Given the description of an element on the screen output the (x, y) to click on. 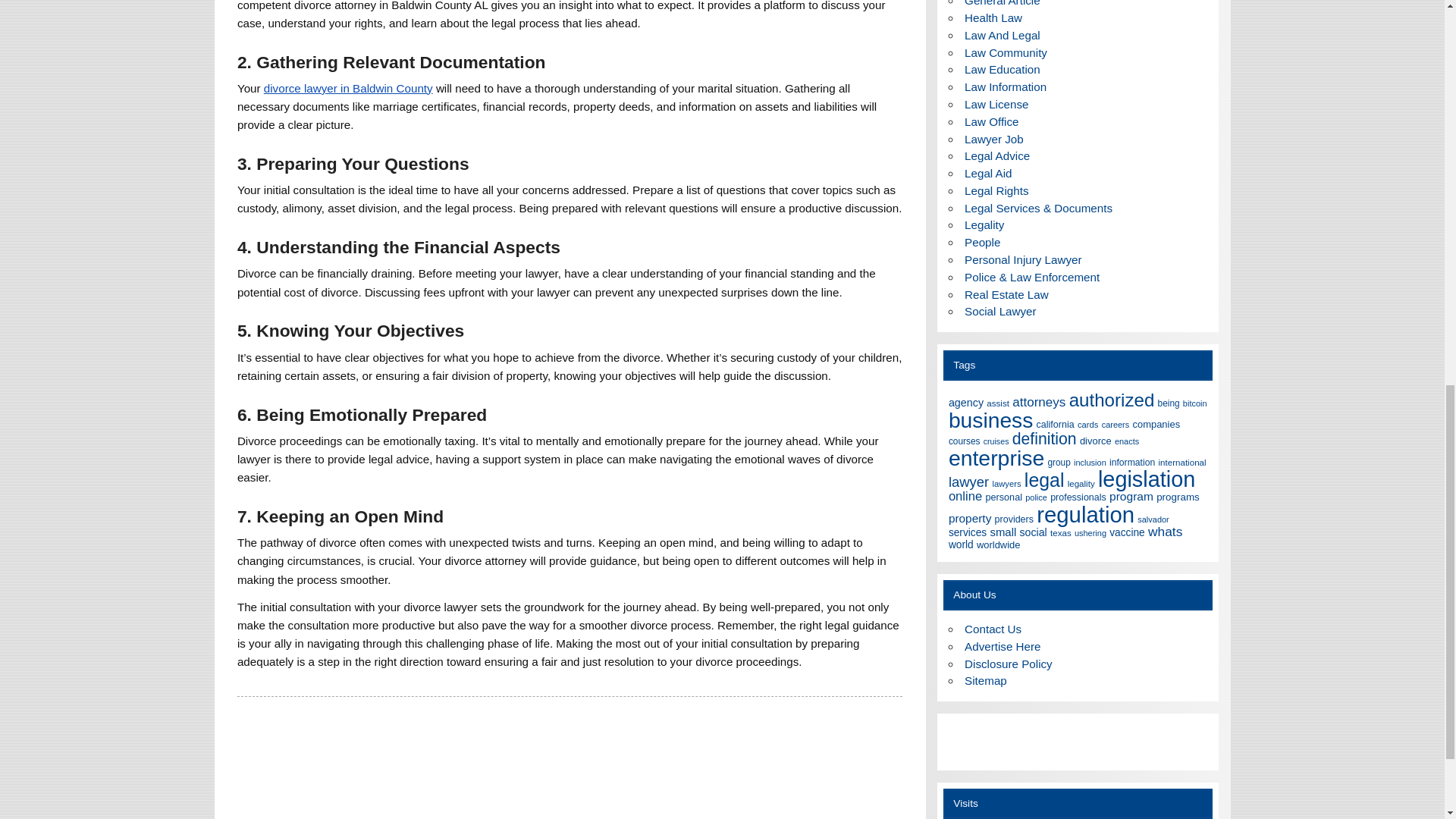
divorce lawyer in Baldwin County (347, 88)
